Given the description of an element on the screen output the (x, y) to click on. 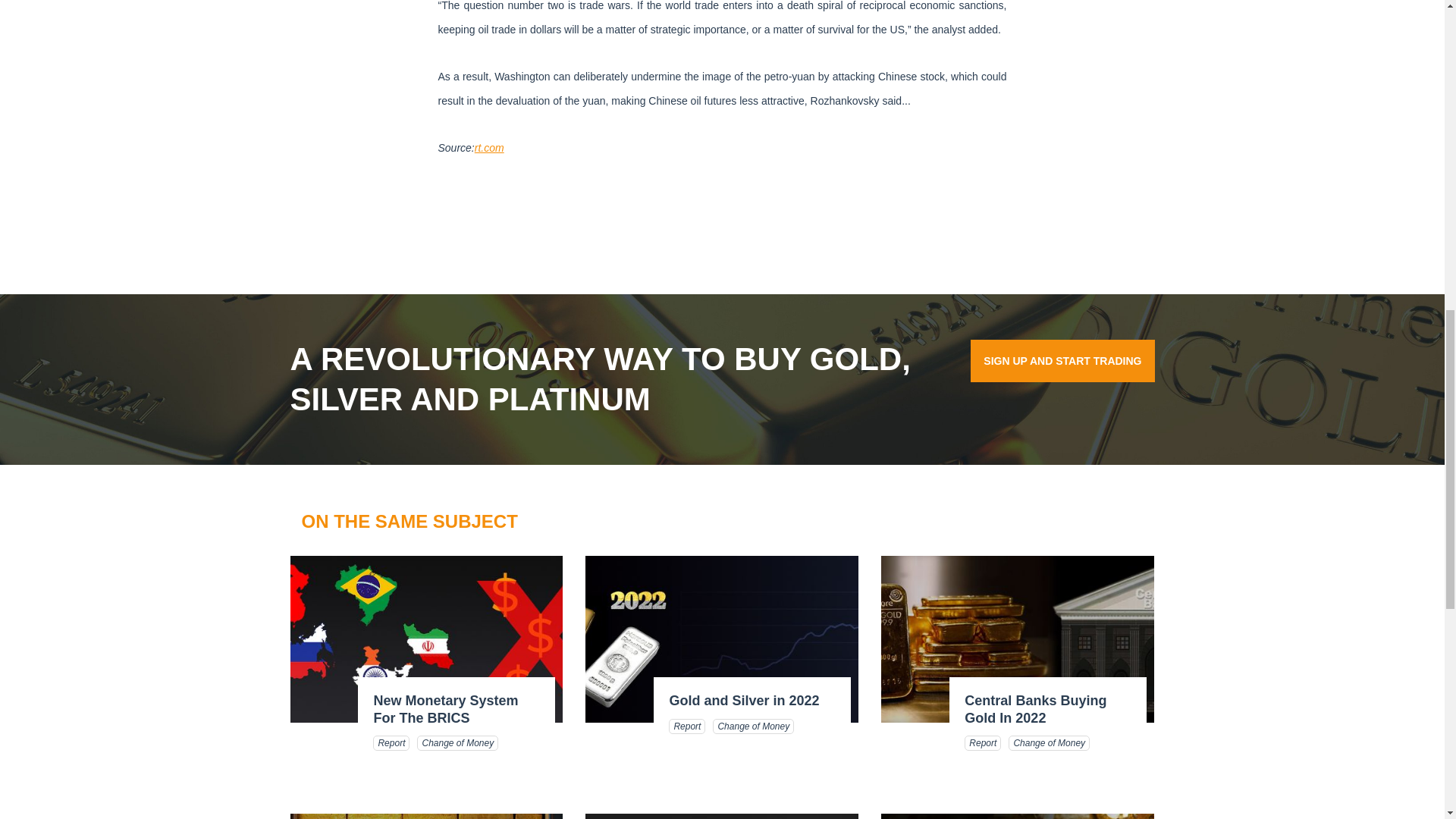
Central Banks Buying Gold In 2022 (1034, 708)
Change of Money (456, 743)
rt.com (488, 147)
Report (982, 743)
SIGN UP AND START TRADING (1062, 360)
Report (390, 743)
Gold and Silver in 2022 (743, 700)
Change of Money (753, 726)
New Monetary System For The BRICS (445, 708)
Change of Money (1049, 743)
Report (686, 726)
